Given the description of an element on the screen output the (x, y) to click on. 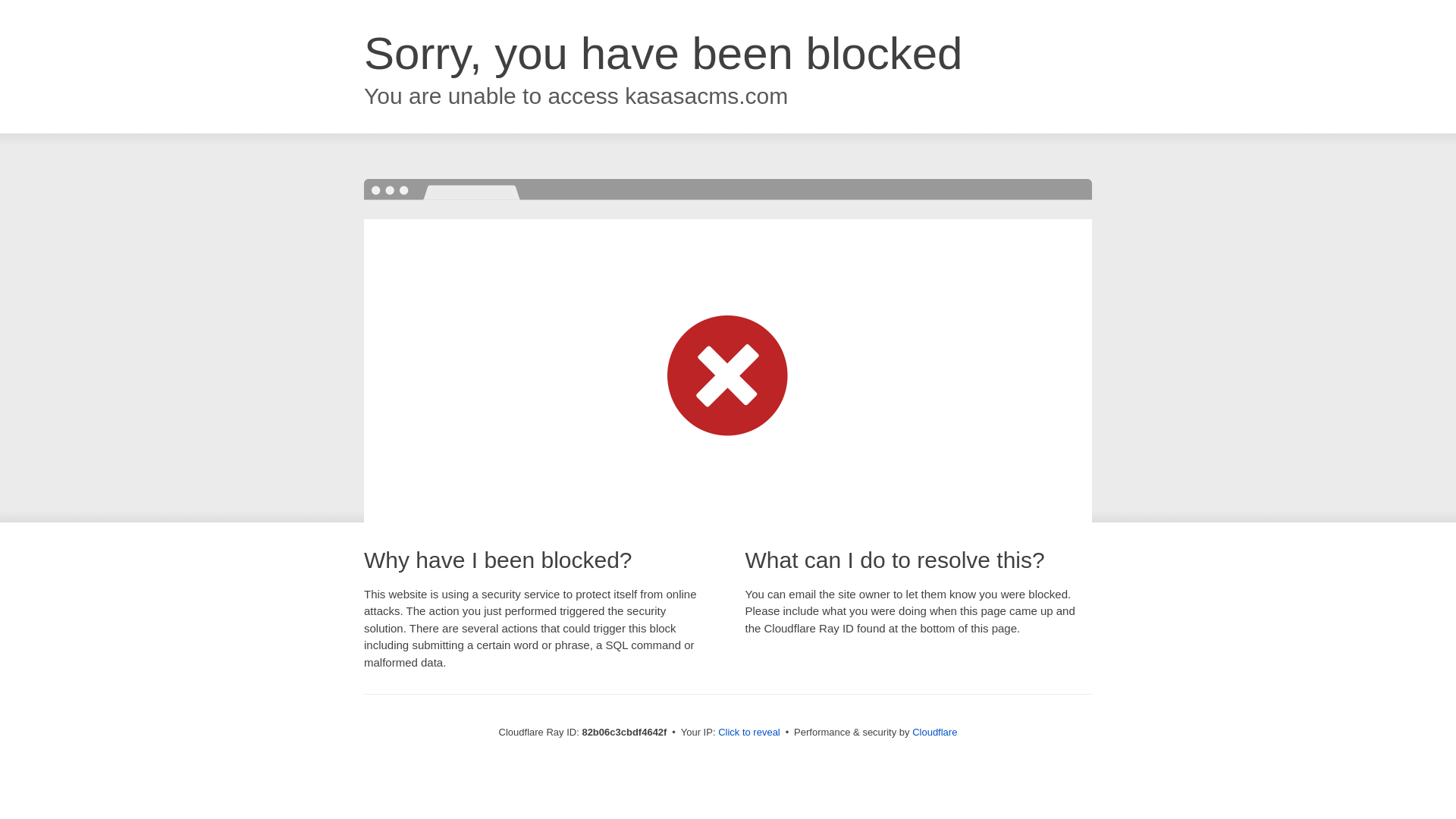
Cloudflare Element type: text (934, 731)
Click to reveal Element type: text (749, 732)
